Given the description of an element on the screen output the (x, y) to click on. 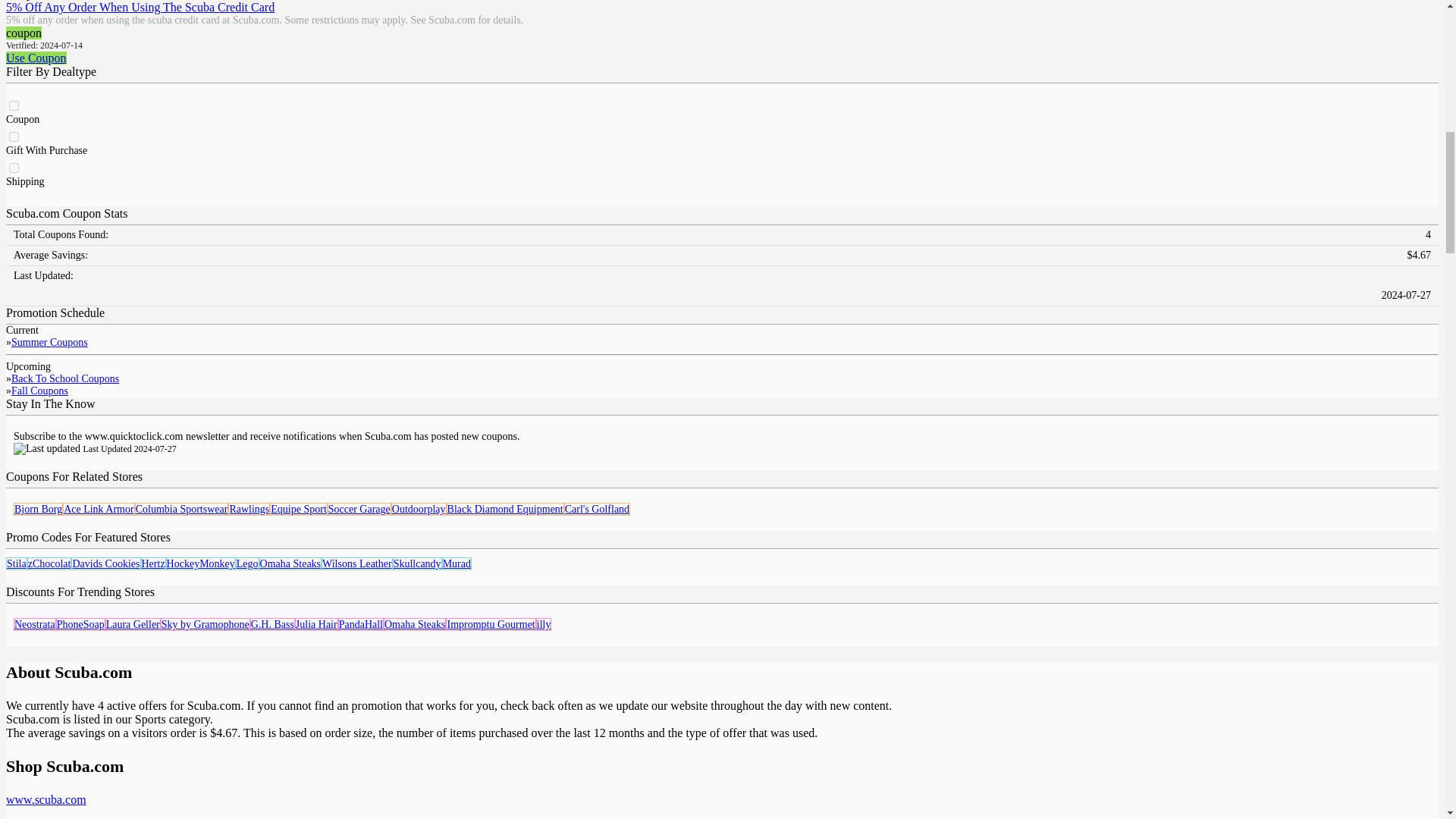
Last updated (46, 449)
gwp (13, 136)
shipping (13, 167)
coupon (13, 105)
